Given the description of an element on the screen output the (x, y) to click on. 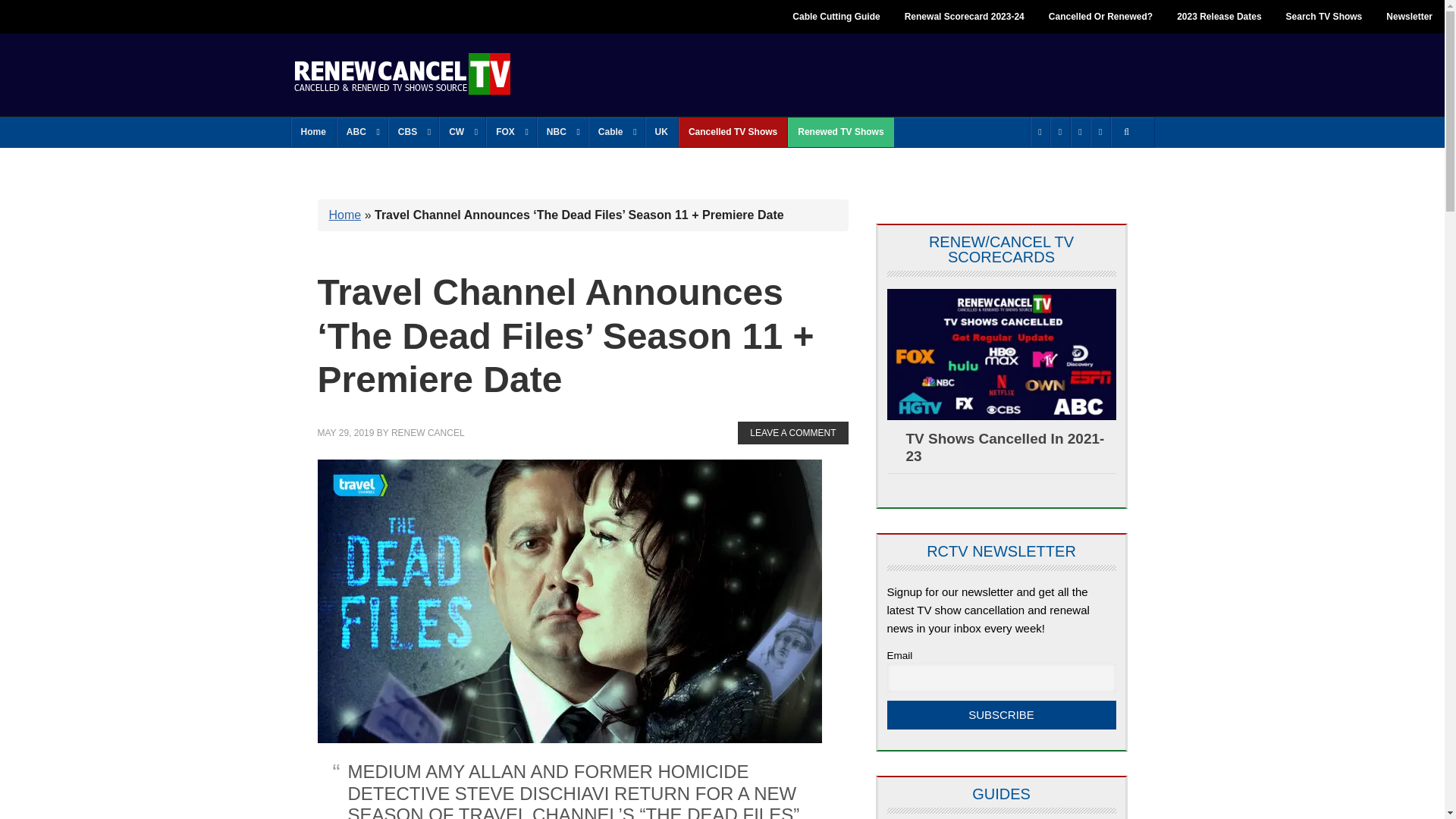
CBS (412, 132)
Search TV Shows (1324, 16)
ABC (361, 132)
Home (313, 132)
Subscribe (1001, 715)
Cancelled Or Renewed? (1100, 16)
Renewal Scorecard 2023-24 (964, 16)
2023 Release Dates (1218, 16)
Cable Cutting Guide (835, 16)
RENEWCANCELTV (401, 73)
